Given the description of an element on the screen output the (x, y) to click on. 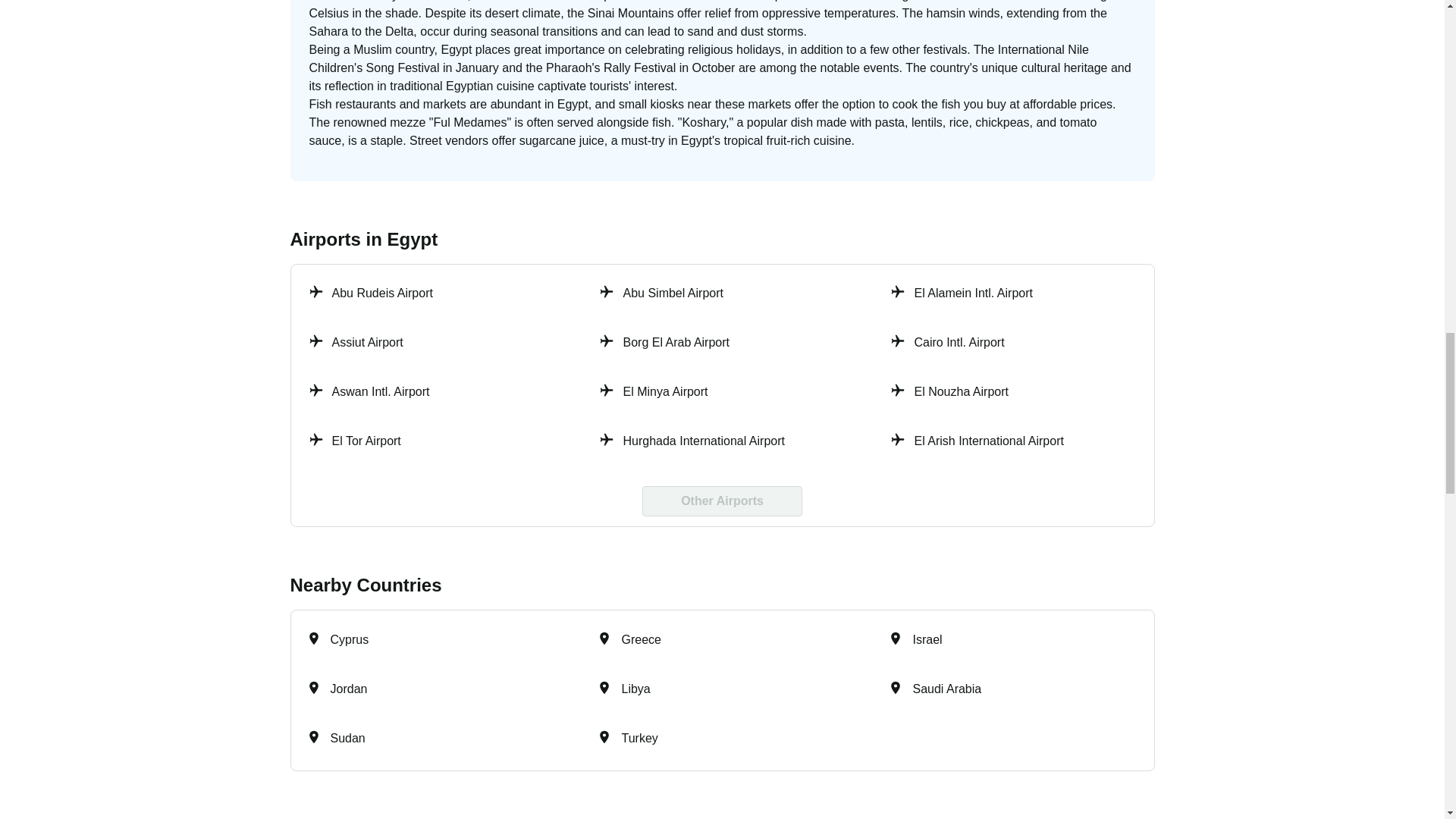
El Alamein Intl. Airport (1013, 294)
Abu Simbel Airport (722, 294)
Abu Rudeis Airport (431, 294)
